Given the description of an element on the screen output the (x, y) to click on. 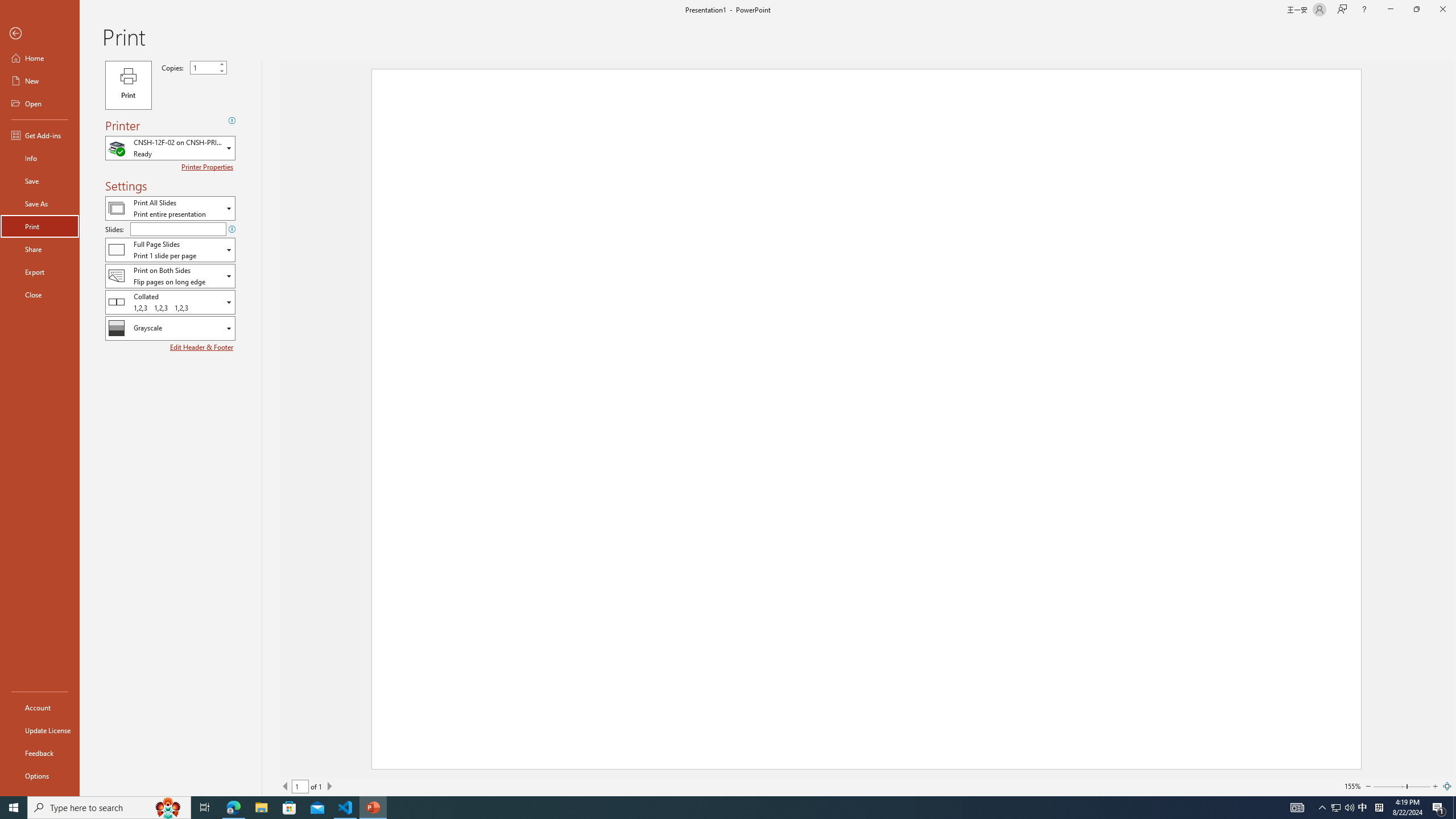
Account (40, 707)
Current Page (300, 786)
Page right (1418, 786)
Save As (40, 203)
Edit Header & Footer (202, 347)
Export (40, 271)
Which Printer (169, 147)
Zoom to Page (1447, 786)
